Given the description of an element on the screen output the (x, y) to click on. 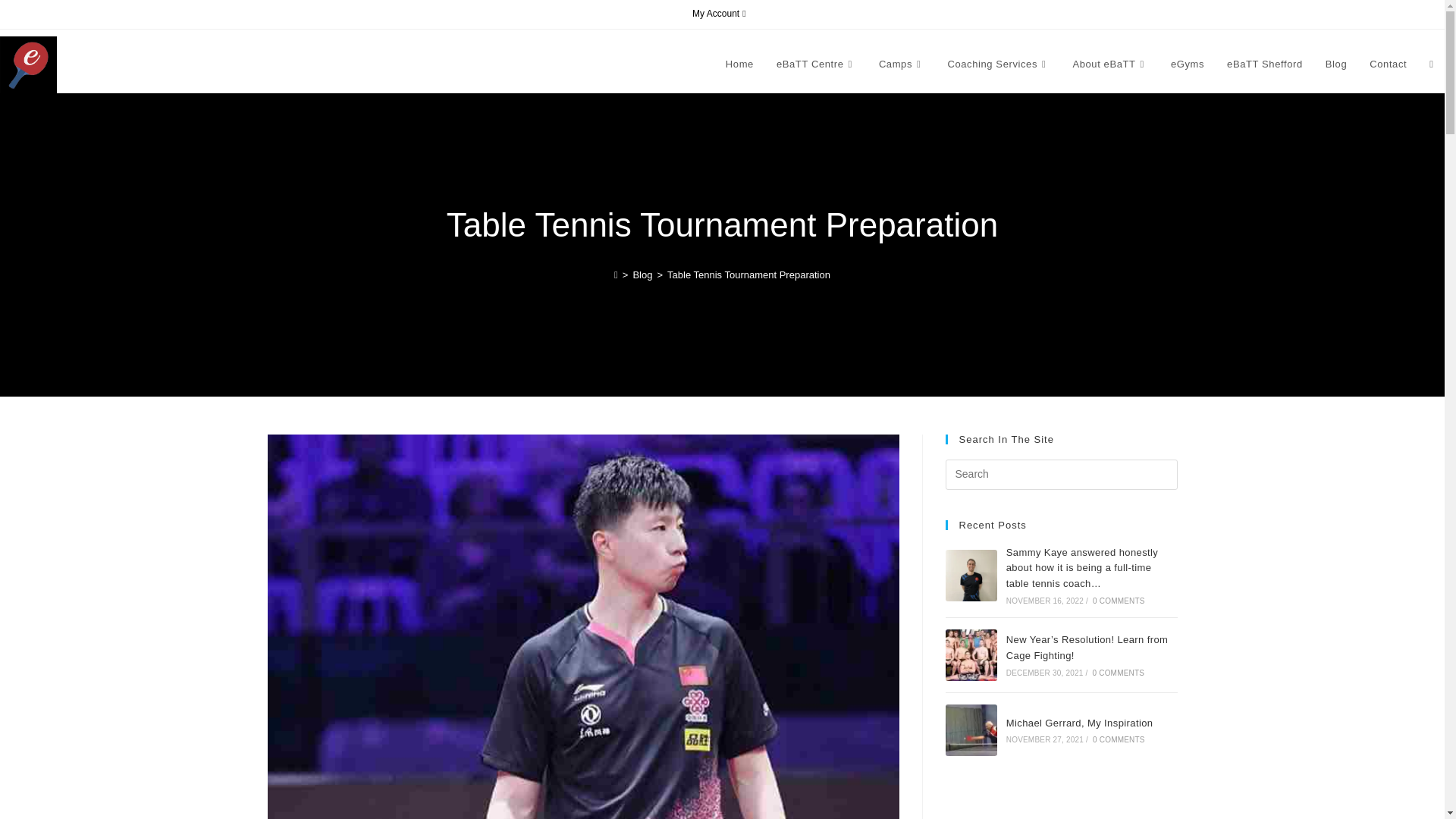
Home (739, 64)
Camps (901, 64)
Coaching Services (998, 64)
About eBaTT (1109, 64)
Michael Gerrard, My Inspiration (969, 729)
eBaTT Centre (816, 64)
My Account (721, 13)
